Given the description of an element on the screen output the (x, y) to click on. 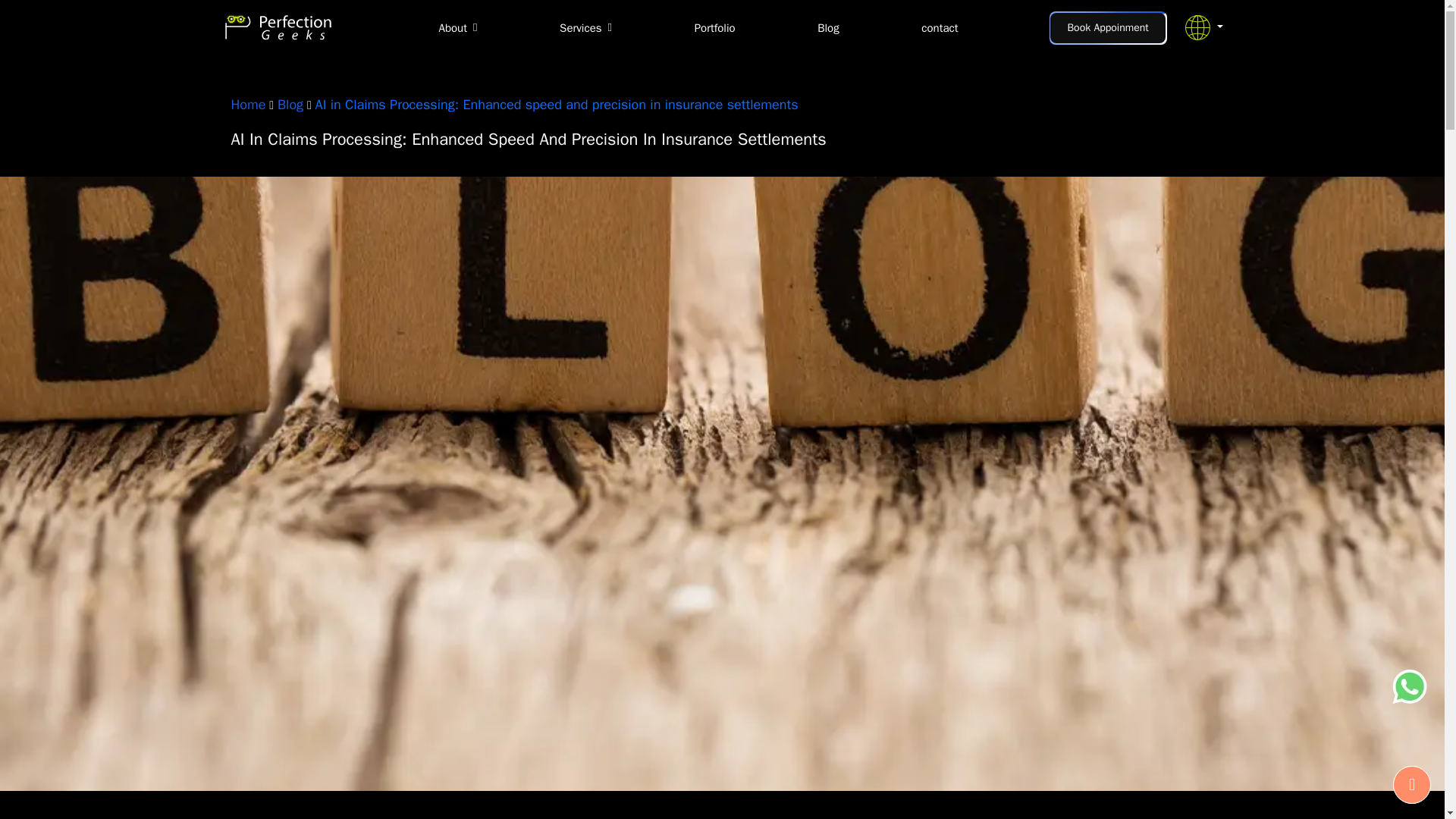
Blog (827, 27)
Services (585, 27)
Portfolio (714, 27)
contact (939, 27)
About (457, 27)
